Given the description of an element on the screen output the (x, y) to click on. 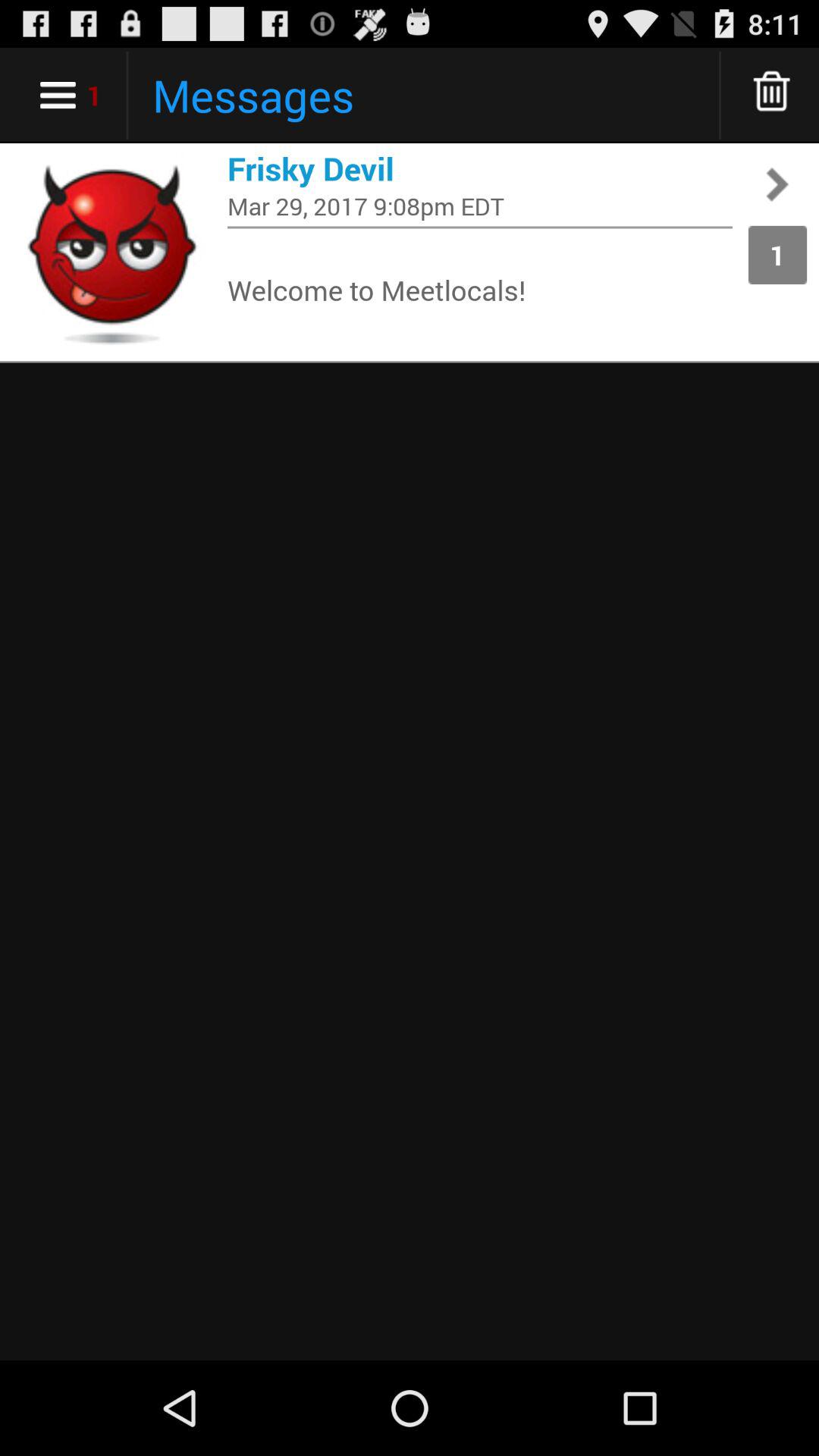
press app to the left of 1 (479, 205)
